Given the description of an element on the screen output the (x, y) to click on. 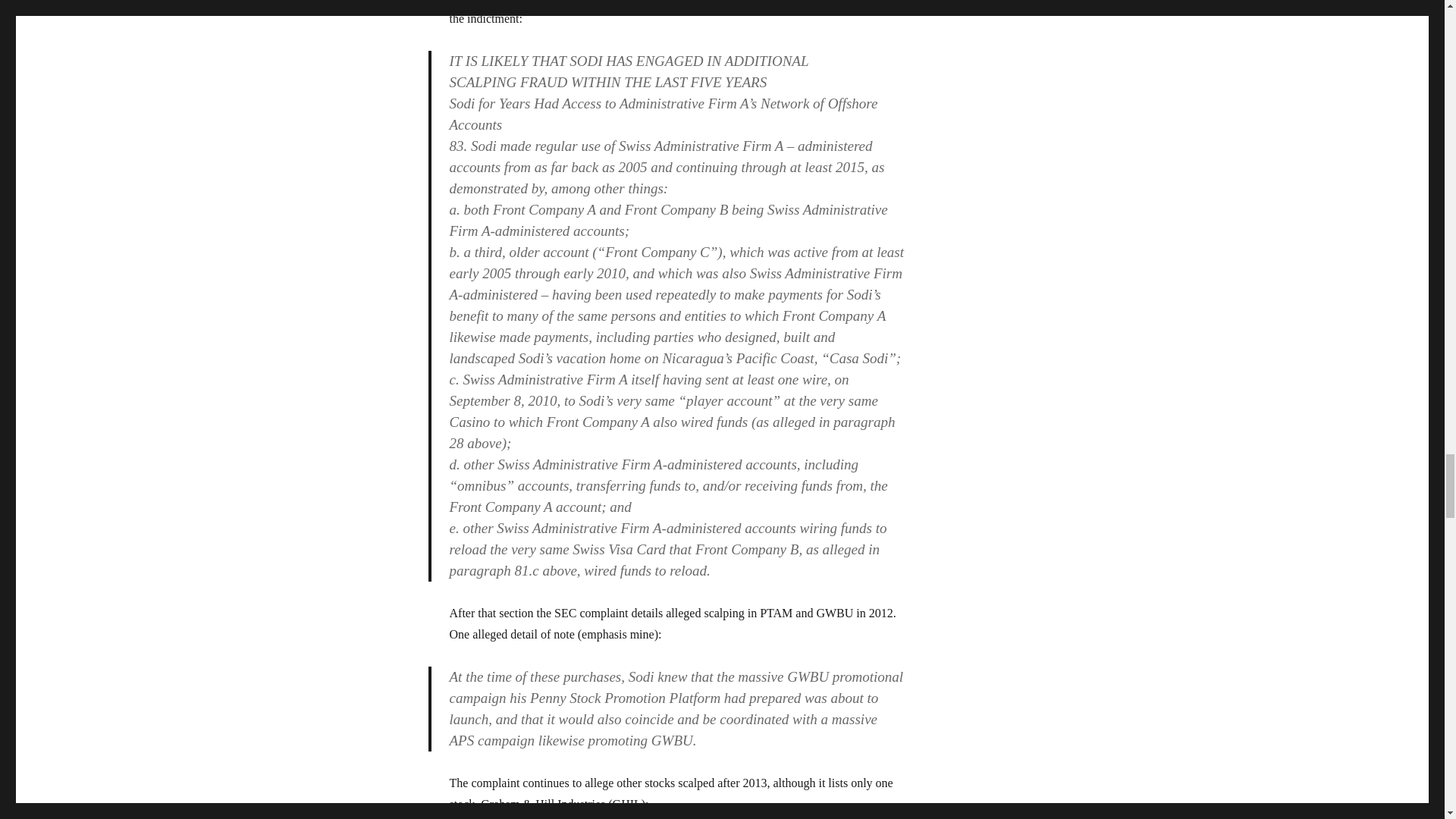
SEC complaint (507, 2)
